Given the description of an element on the screen output the (x, y) to click on. 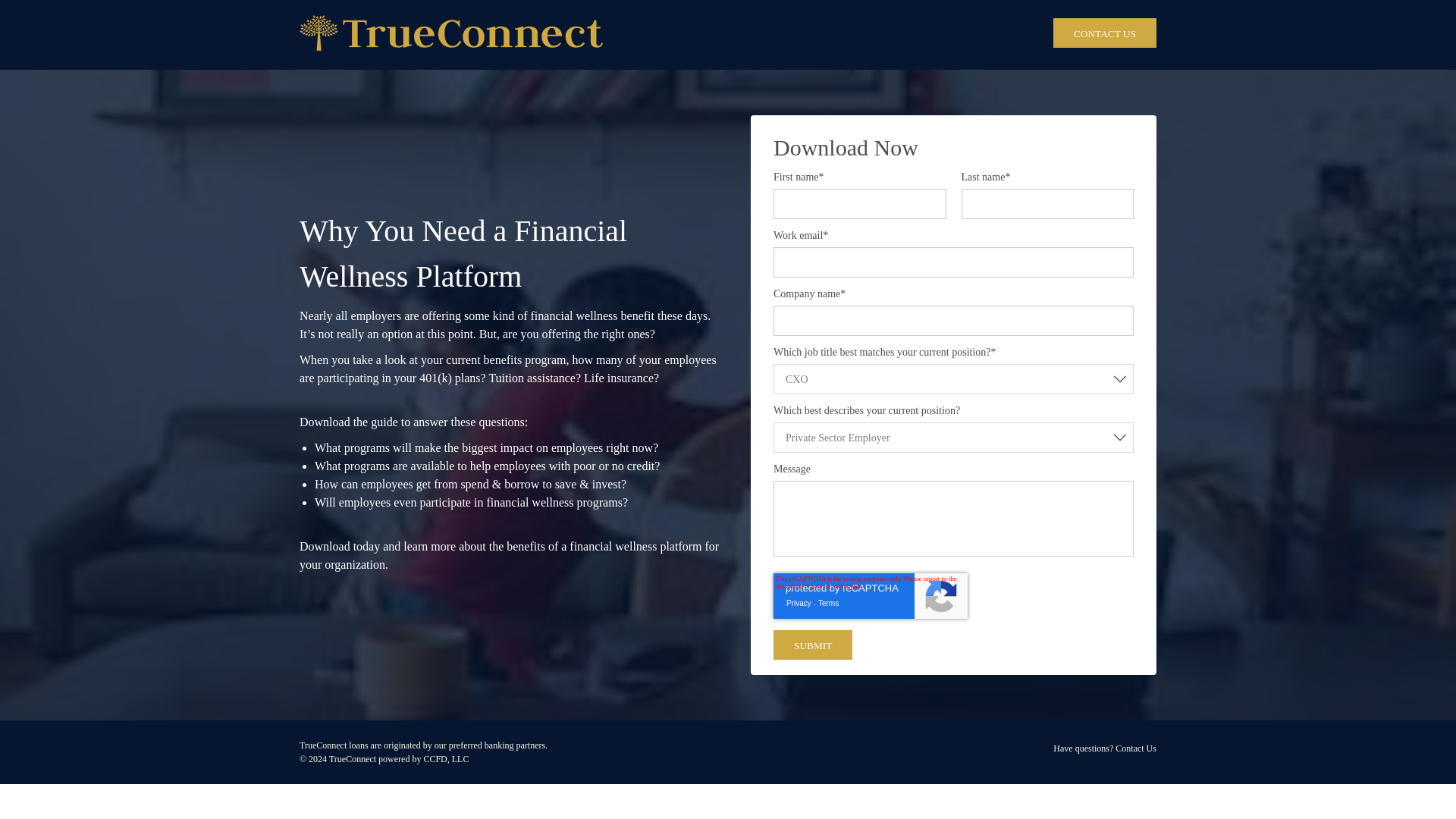
Contact Us (1104, 32)
Contact Us (1135, 748)
Submit (812, 644)
reCAPTCHA (870, 596)
Submit (812, 644)
CONTACT US (1104, 32)
